Given the description of an element on the screen output the (x, y) to click on. 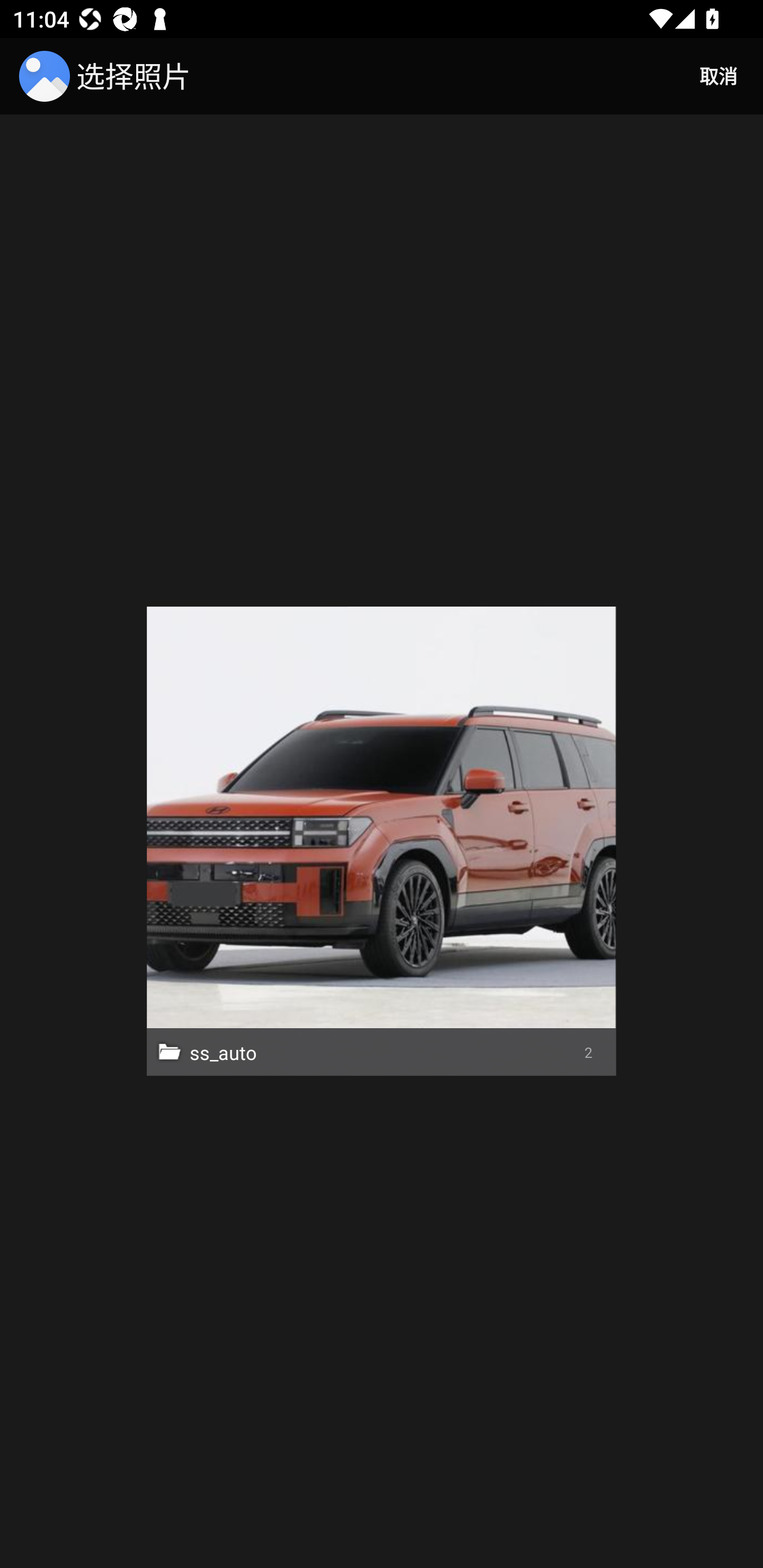
选择照片 (107, 75)
取消 (718, 75)
